Given the description of an element on the screen output the (x, y) to click on. 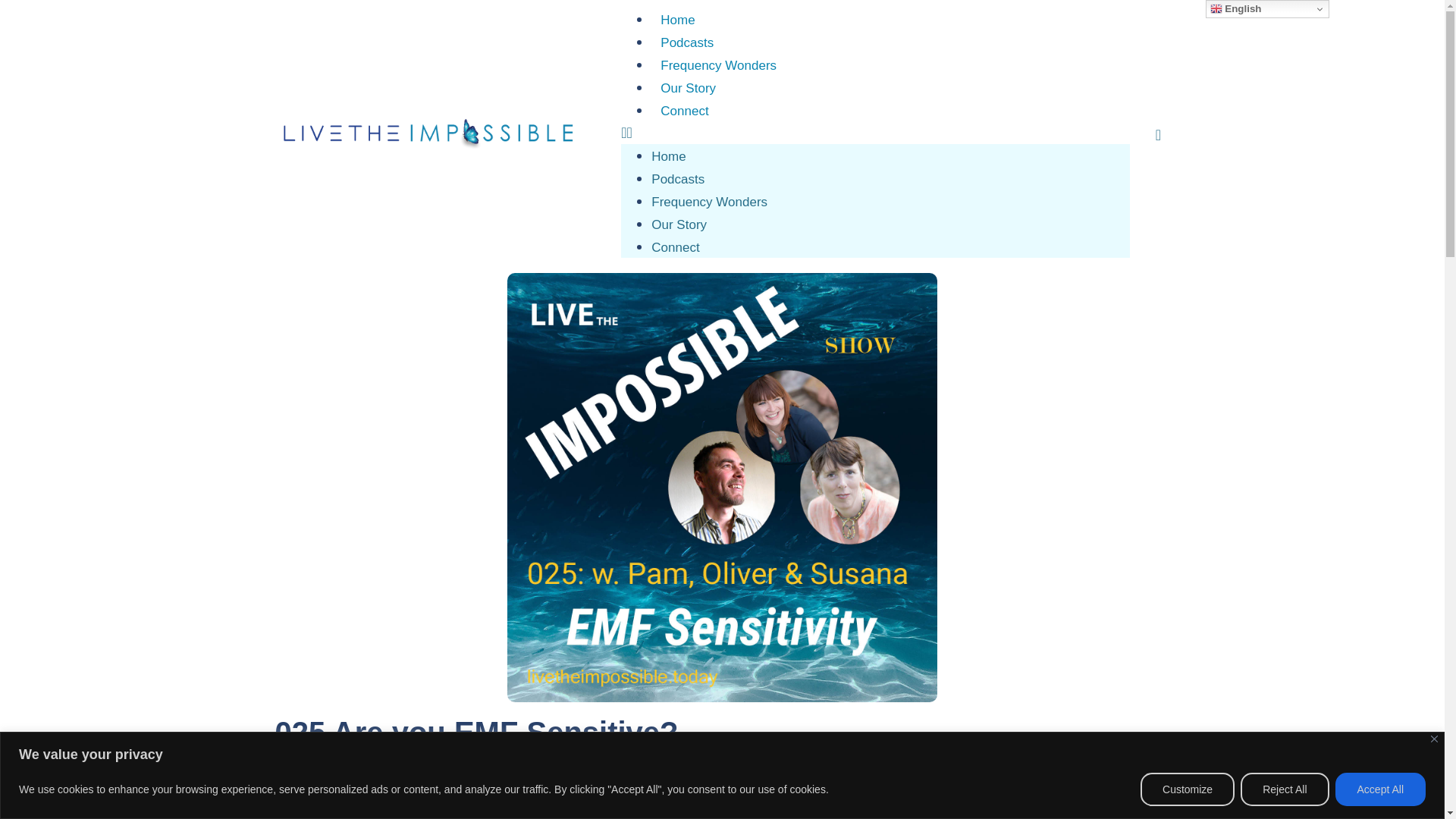
April 28, 2020 (331, 773)
Frequency Wonders (708, 201)
Accept All (1380, 788)
Our Story (678, 224)
Our Story (687, 87)
Reject All (1283, 788)
Podcasts (677, 178)
Frequency Wonders (718, 65)
Connect (683, 110)
Home (667, 156)
Home (676, 20)
Connect (674, 247)
Podcasts (686, 42)
Customize (1187, 788)
